Given the description of an element on the screen output the (x, y) to click on. 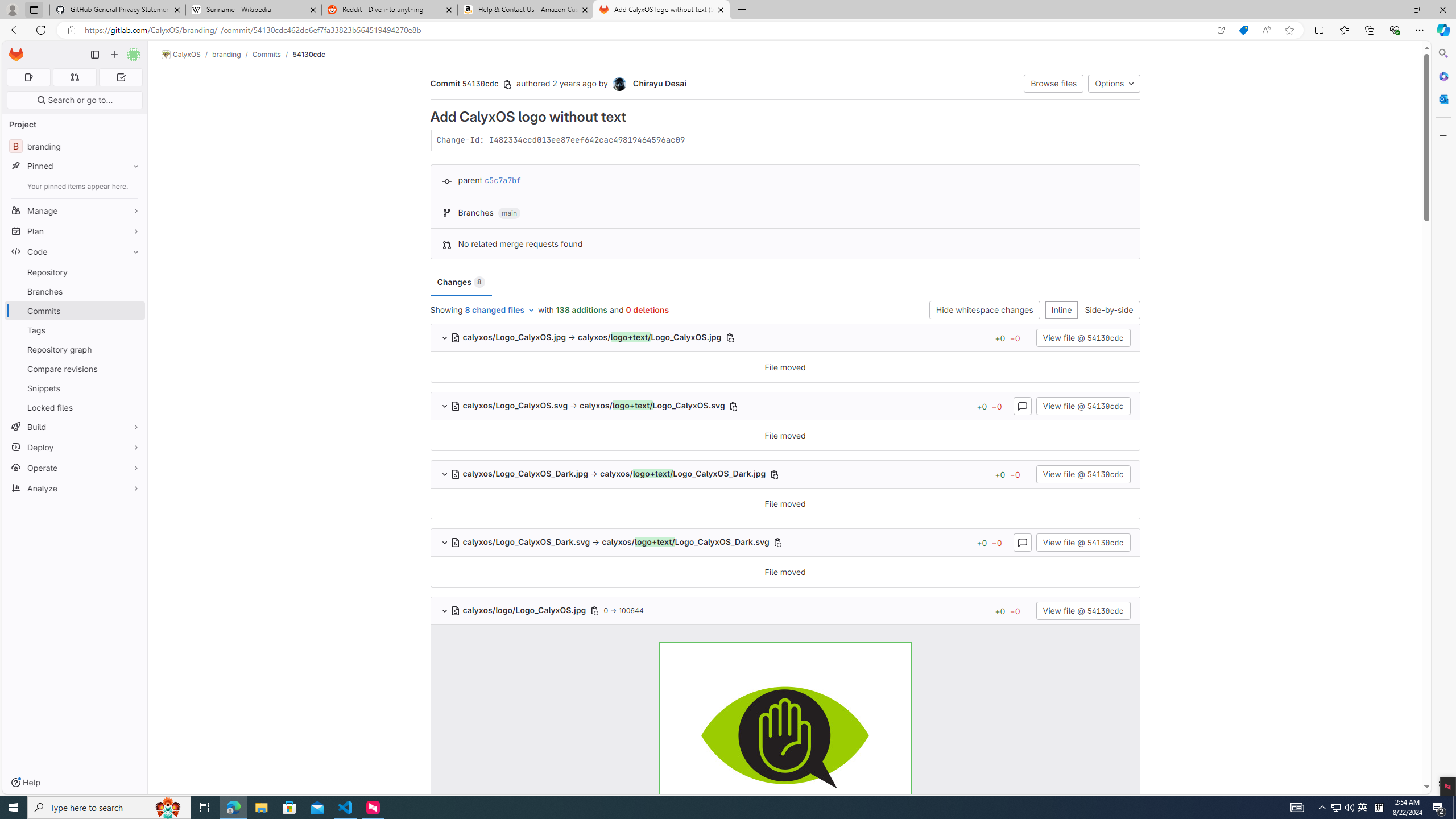
Browse files (1053, 83)
Inline (1060, 309)
Pin Compare revisions (132, 368)
c5c7a7bf (502, 180)
B branding (74, 145)
Pin Repository graph (132, 349)
54130cdc (309, 53)
8 changed files (499, 309)
Repository graph (74, 348)
Pin Repository (132, 272)
